Given the description of an element on the screen output the (x, y) to click on. 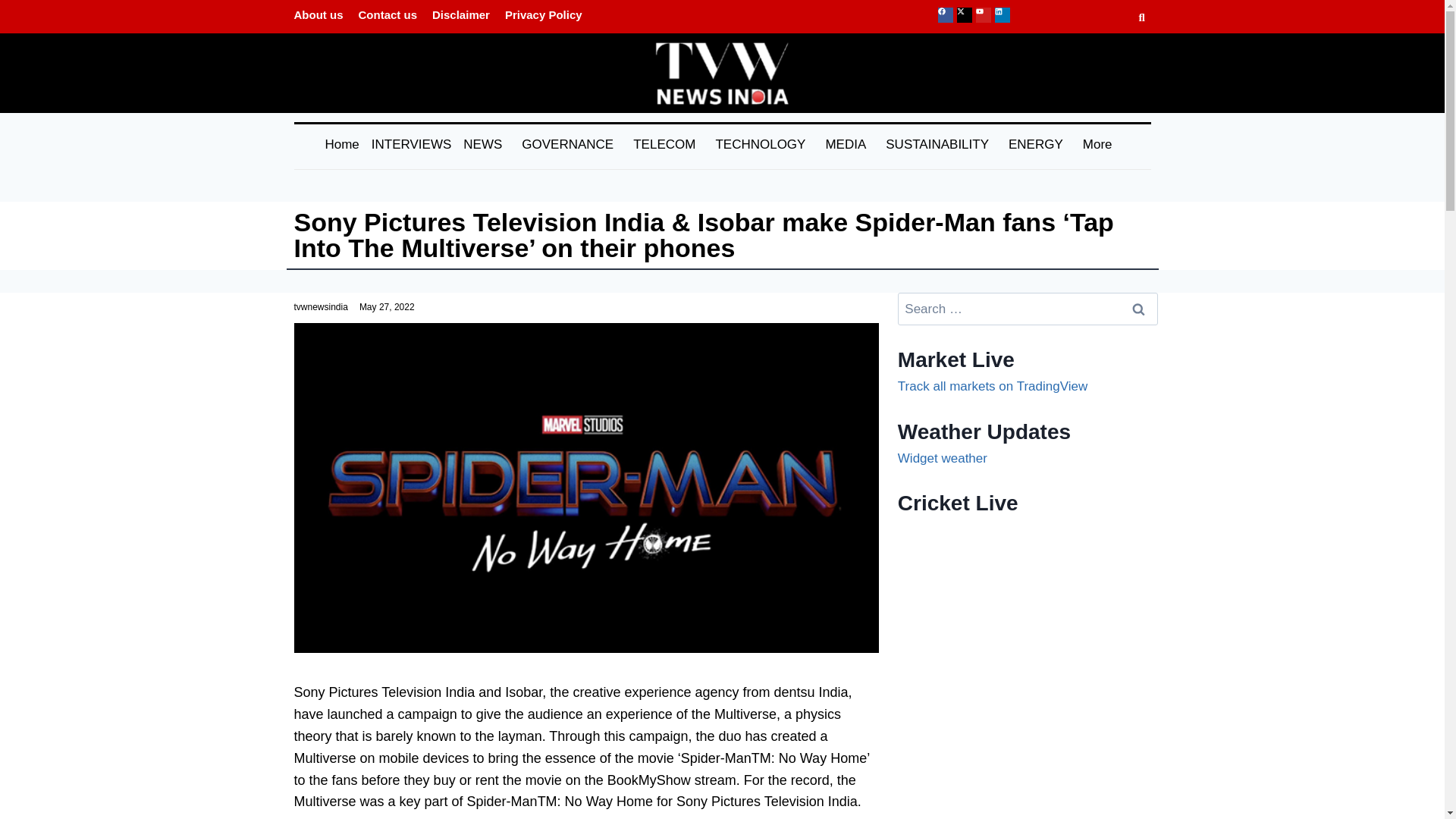
GOVERNANCE (571, 144)
Disclaimer (461, 14)
Privacy Policy (543, 14)
About us (318, 14)
TELECOM (667, 144)
Home (341, 144)
Search (1138, 308)
NEWS (486, 144)
Contact us (387, 14)
MEDIA (849, 144)
